Given the description of an element on the screen output the (x, y) to click on. 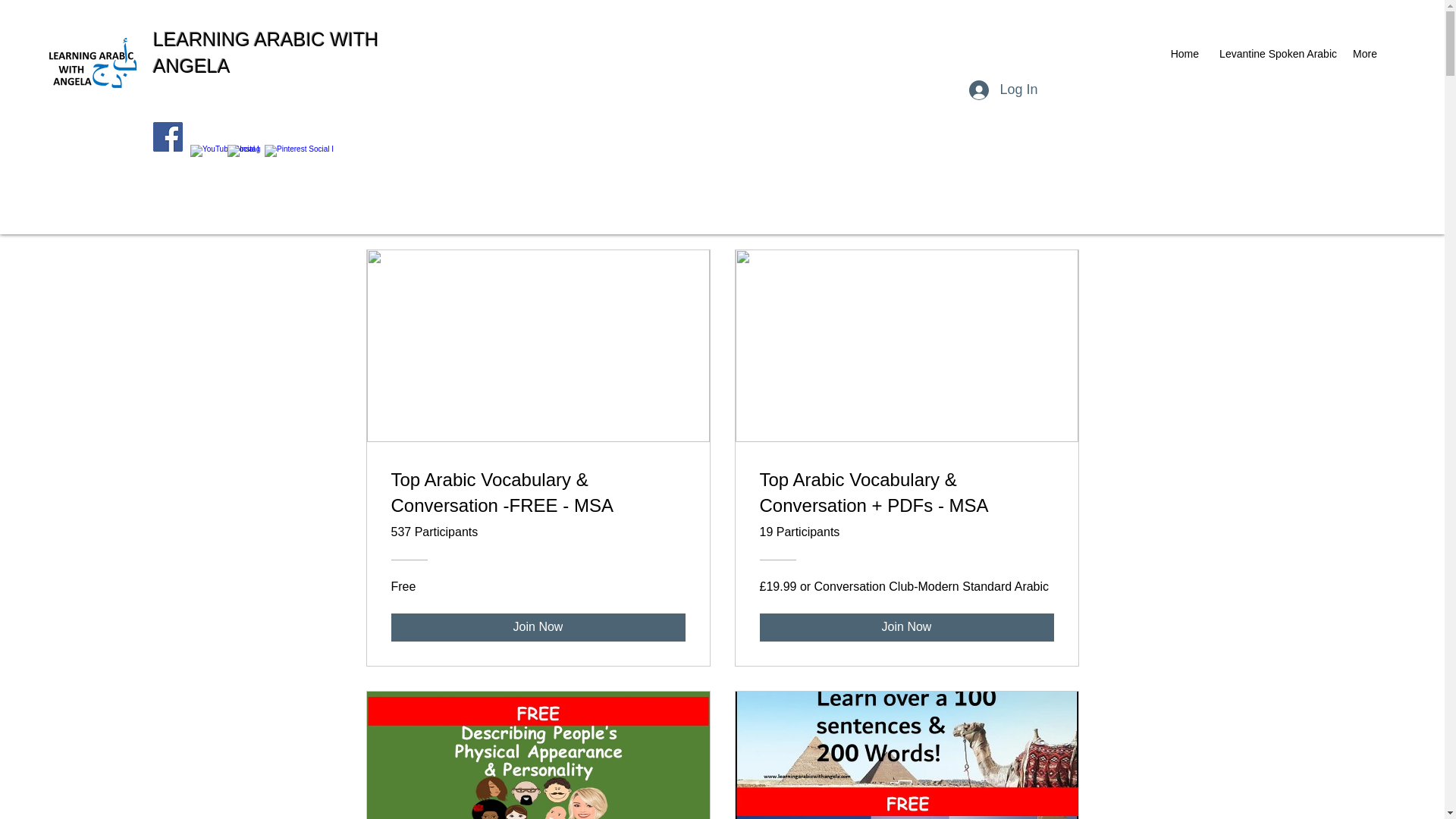
Join Now (538, 626)
Levantine Spoken Arabic (1275, 53)
Log In (1003, 90)
Join Now (907, 626)
Home (1184, 53)
LEARNING ARABIC WITH ANGELA (265, 52)
